Given the description of an element on the screen output the (x, y) to click on. 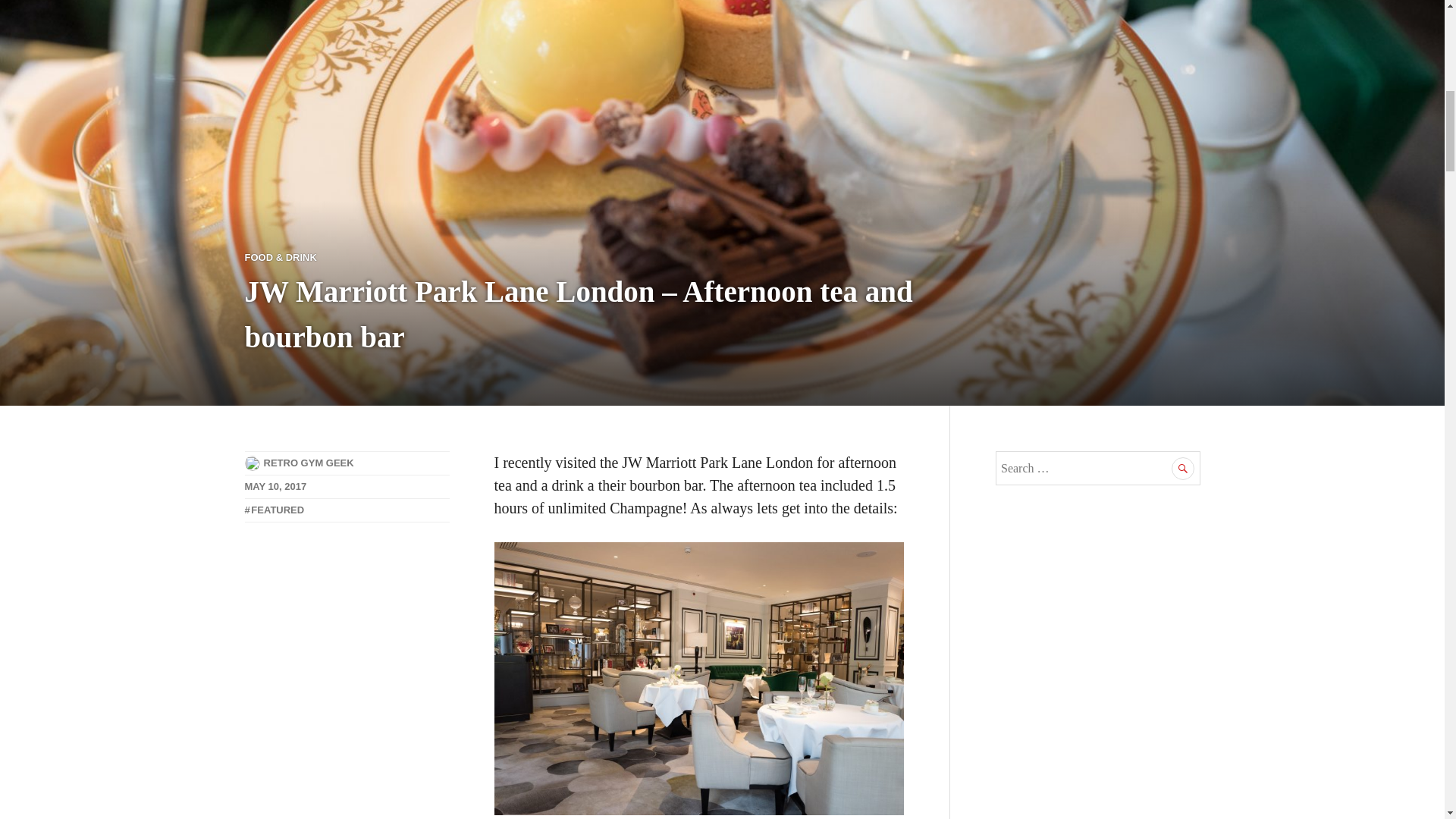
Search (1182, 468)
RETRO GYM GEEK (308, 462)
Search (1182, 468)
MAY 10, 2017 (274, 486)
FEATURED (274, 509)
Search (1182, 468)
